Given the description of an element on the screen output the (x, y) to click on. 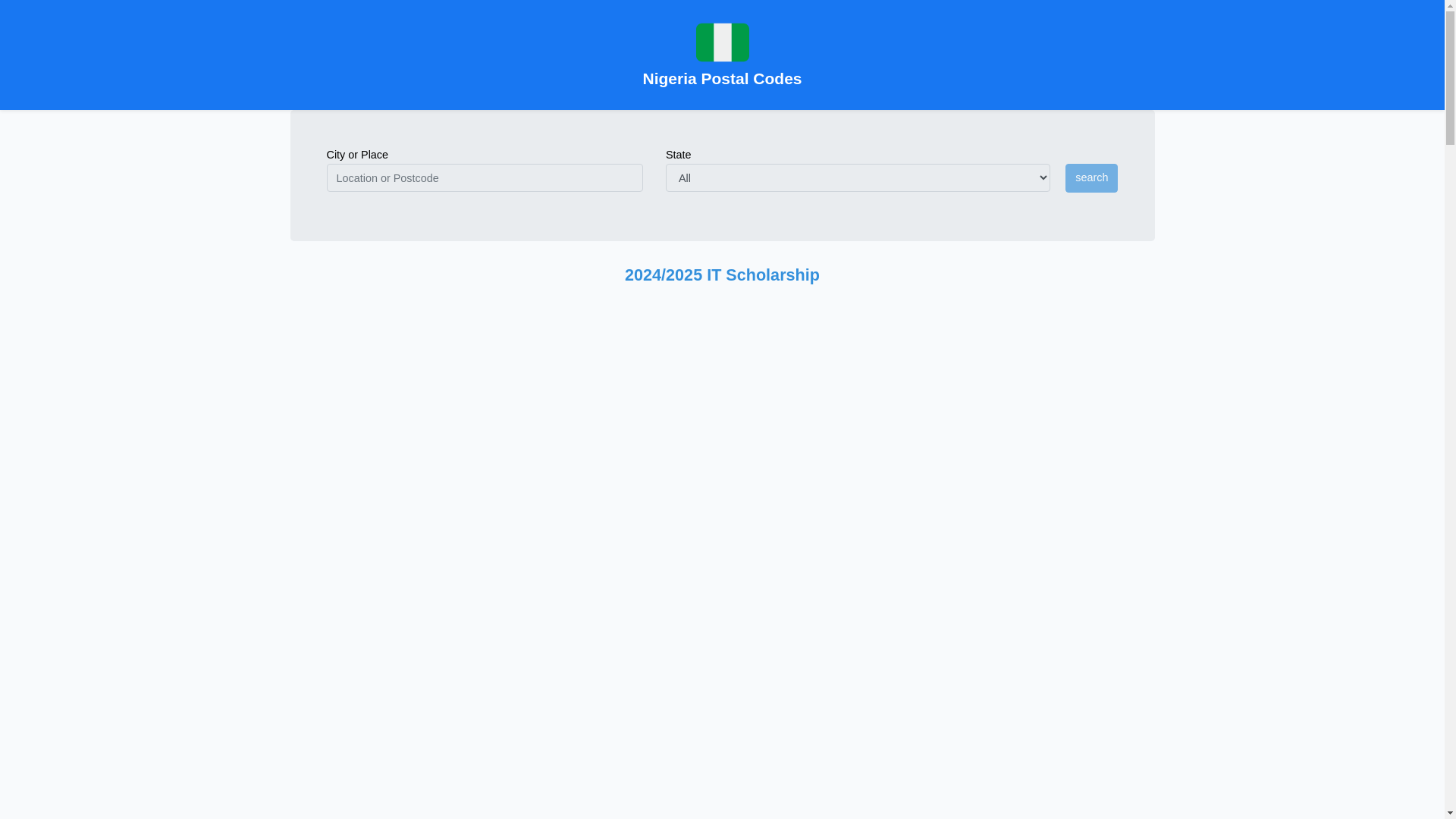
search (1091, 177)
search (1091, 177)
Nigeria Postal Codes (722, 54)
